Given the description of an element on the screen output the (x, y) to click on. 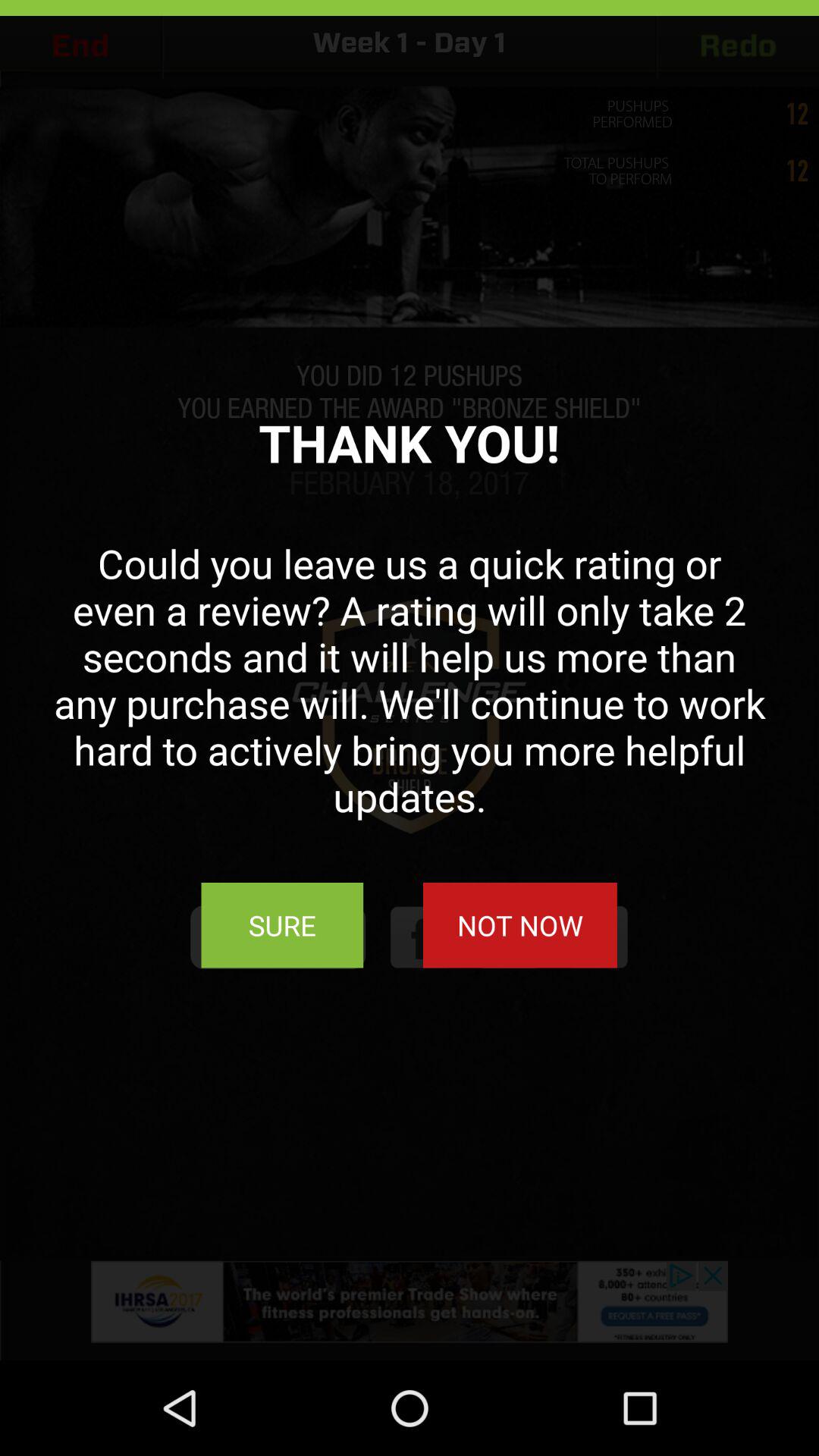
select the sure item (282, 925)
